Given the description of an element on the screen output the (x, y) to click on. 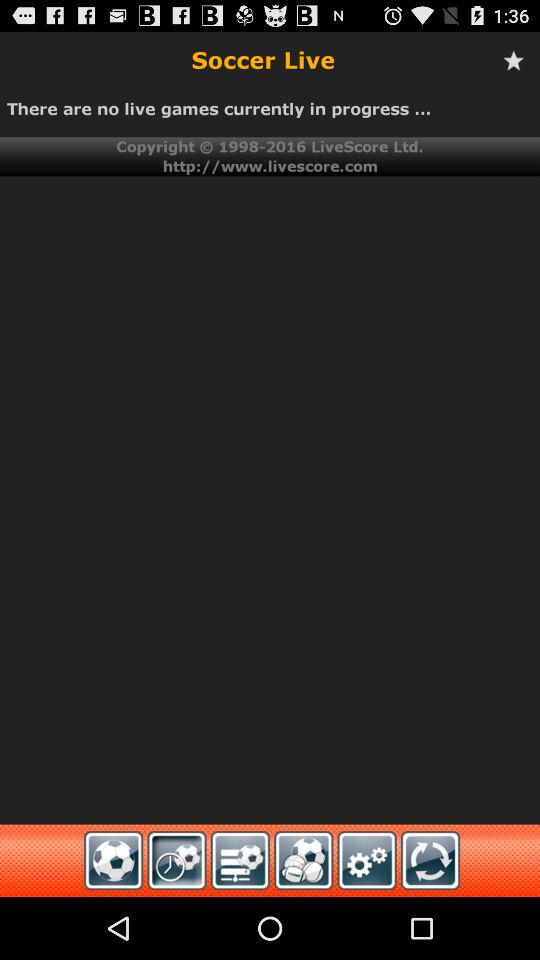
third option from the right in bottom of the page (240, 860)
select the icon next to settings icon (430, 860)
click on fourth icon at bottom of page (303, 860)
